Given the description of an element on the screen output the (x, y) to click on. 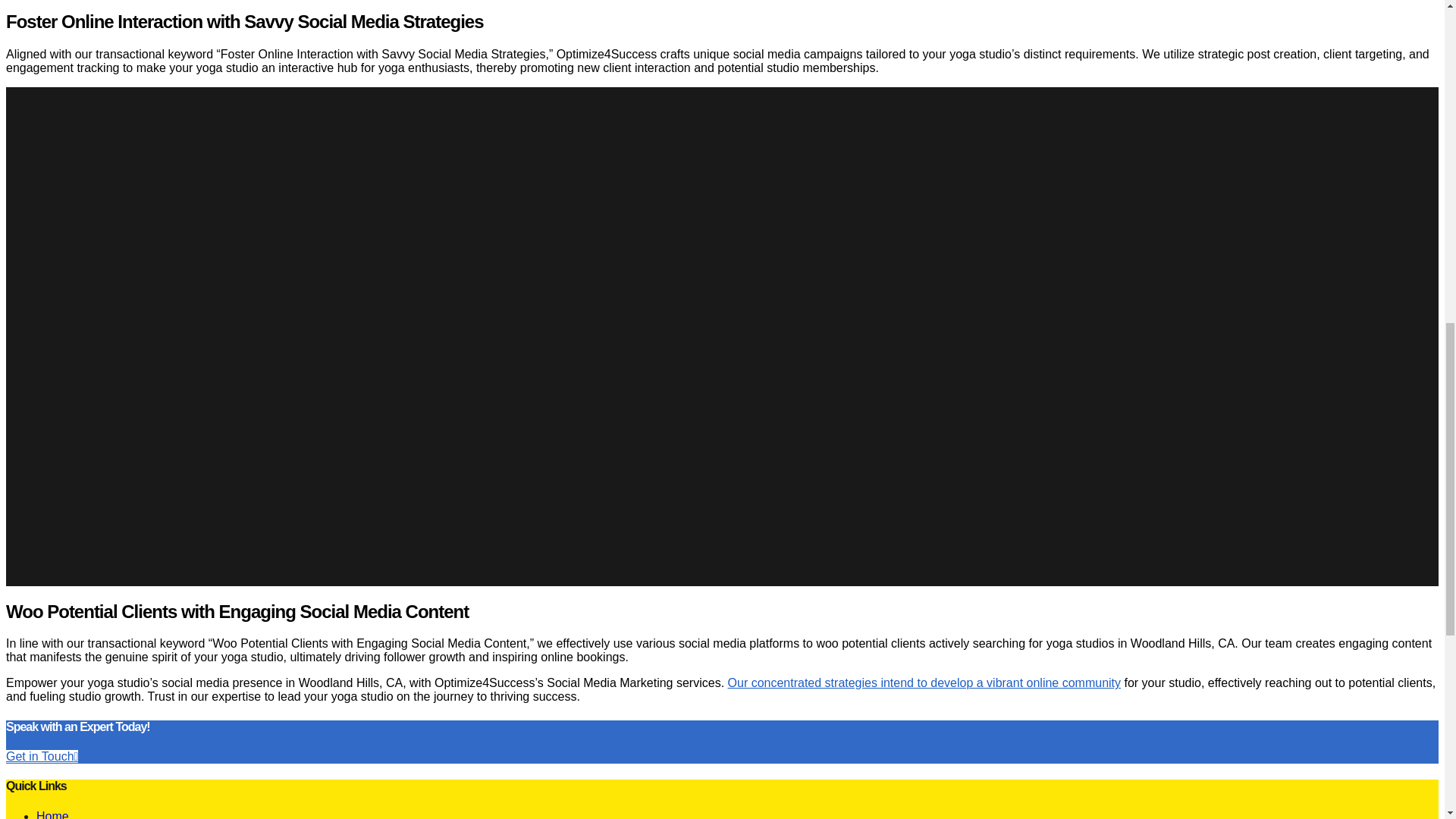
Home (52, 814)
Get in Touch (41, 756)
Get in Touch (41, 756)
